Given the description of an element on the screen output the (x, y) to click on. 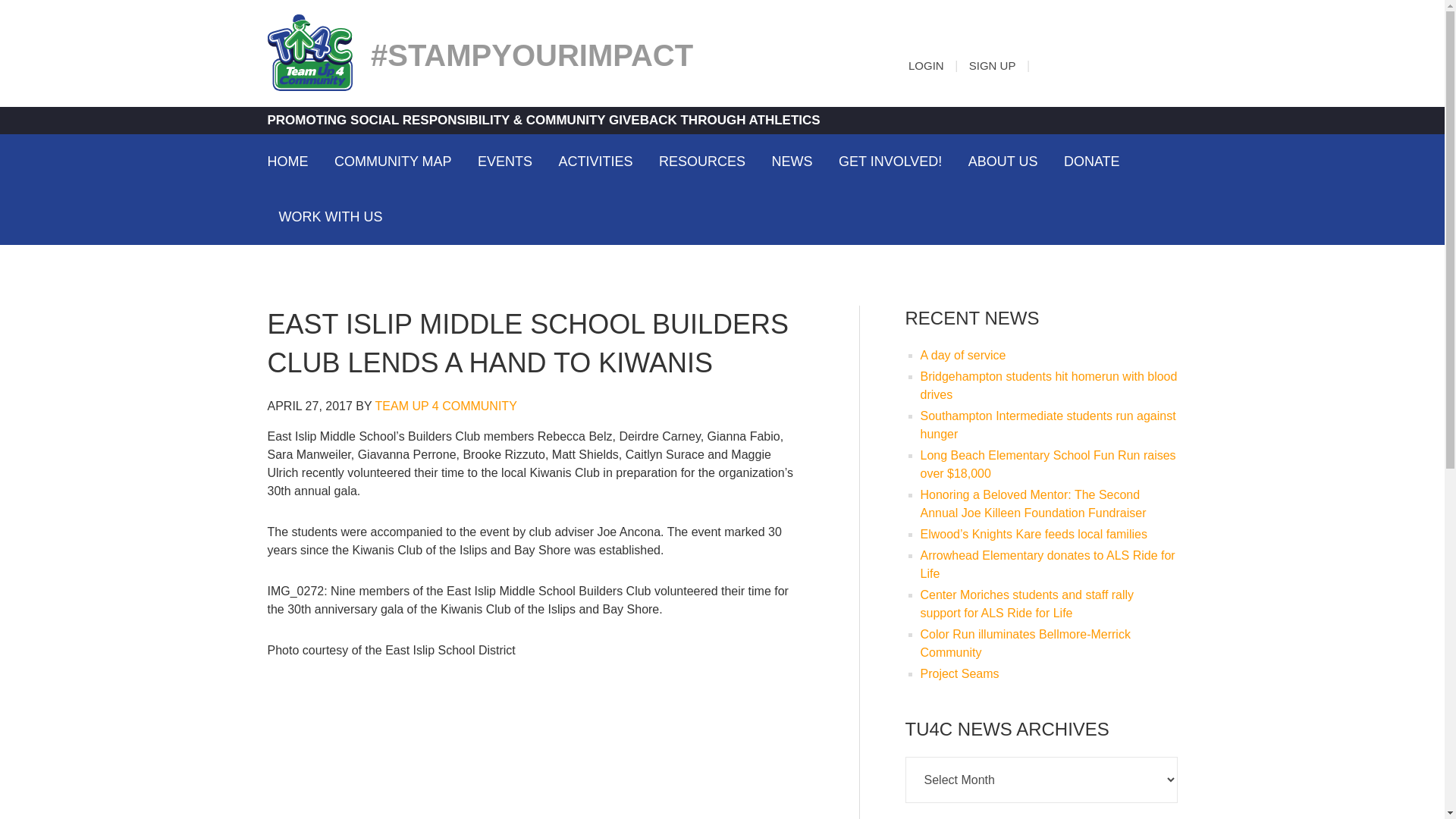
HOME (292, 160)
Email (1051, 62)
YouTube (1163, 62)
RESOURCES (702, 160)
EVENTS (504, 160)
NEWS (792, 160)
ACTIVITIES (596, 160)
ABOUT US (1002, 160)
COMMUNITY MAP (393, 160)
